Given the description of an element on the screen output the (x, y) to click on. 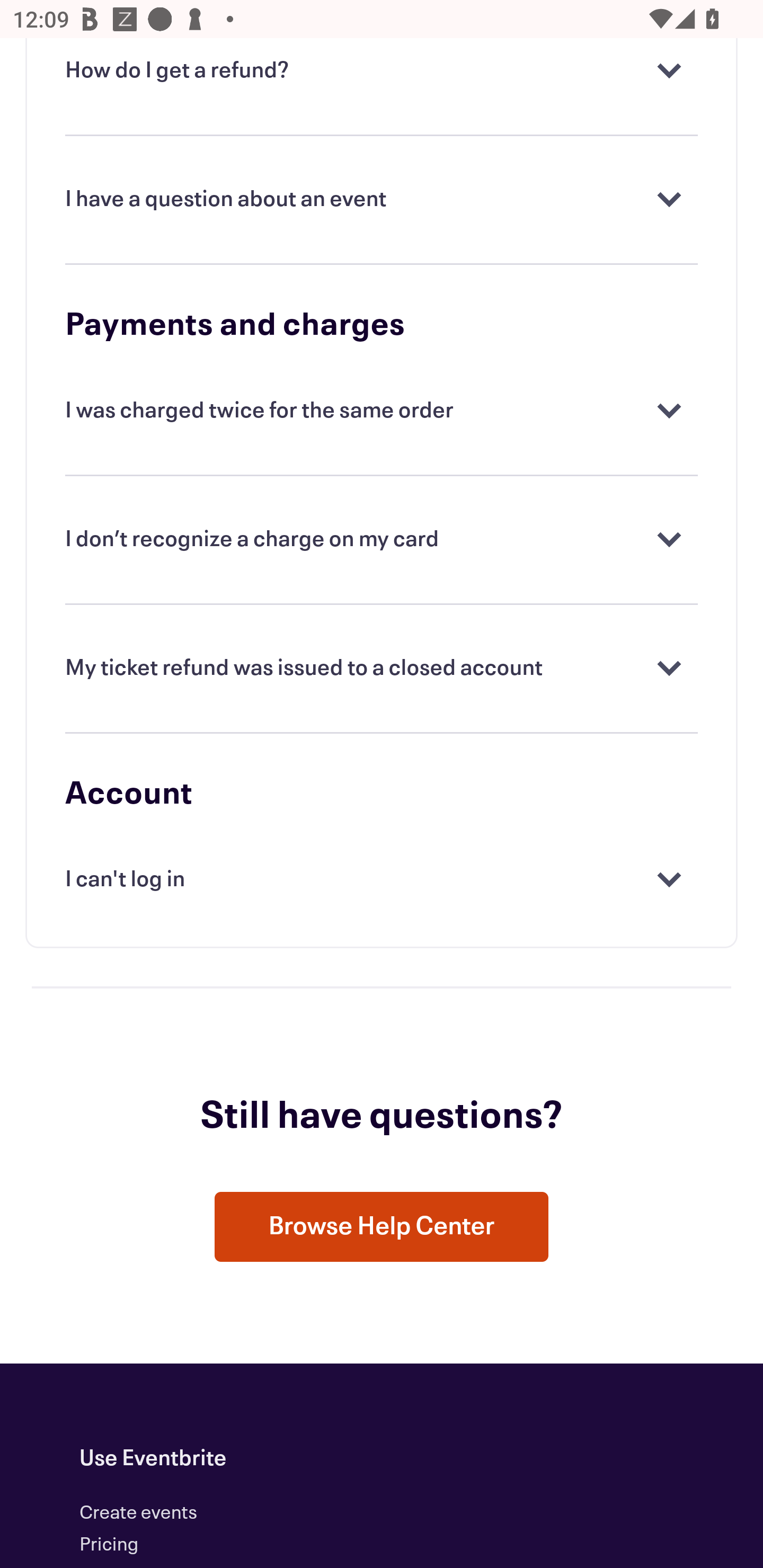
How do I get a refund? (381, 71)
I have a question about an event (381, 200)
I was charged twice for the same order (381, 412)
I don’t recognize a charge on my card (381, 540)
My ticket refund was issued to a closed account (381, 669)
I can't log in (381, 881)
Browse Help Center (381, 1227)
Create events (138, 1513)
Pricing (109, 1545)
